Given the description of an element on the screen output the (x, y) to click on. 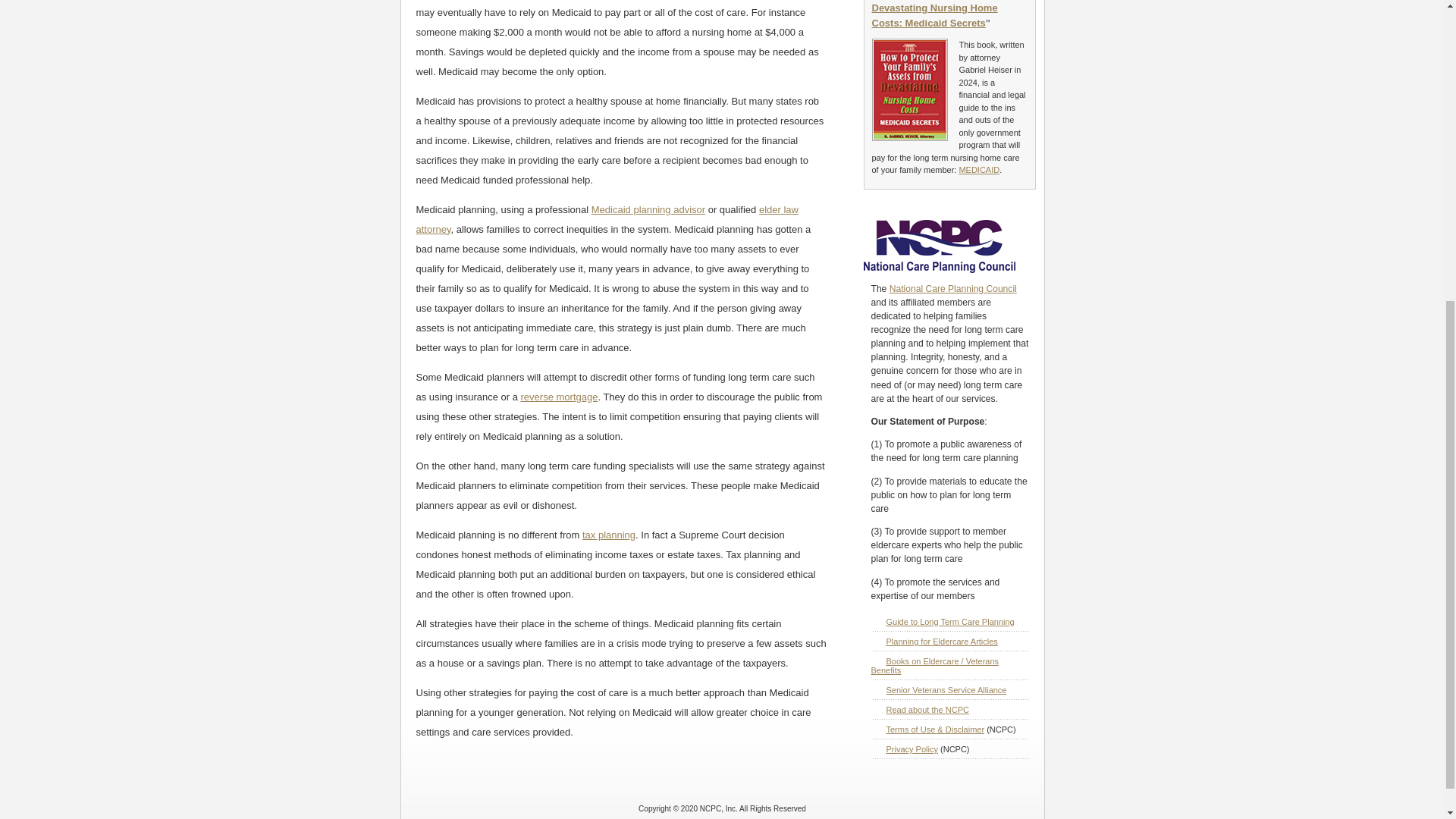
tax planning (608, 534)
reverse mortgage (559, 396)
